Given the description of an element on the screen output the (x, y) to click on. 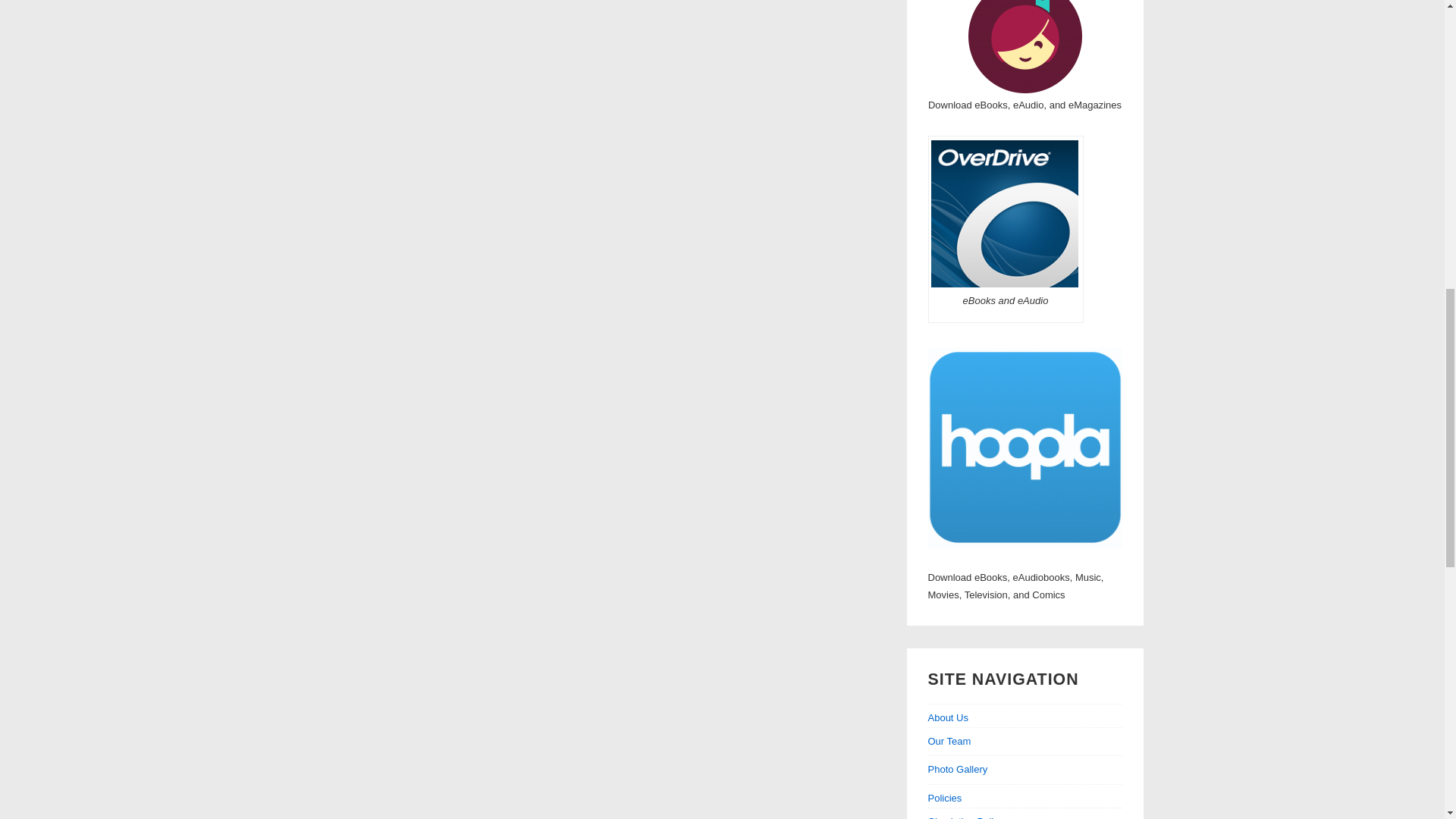
Photo Gallery (958, 768)
About Us (1025, 718)
Circulation Policy (966, 817)
Our Team (949, 740)
Policies (1025, 798)
